Given the description of an element on the screen output the (x, y) to click on. 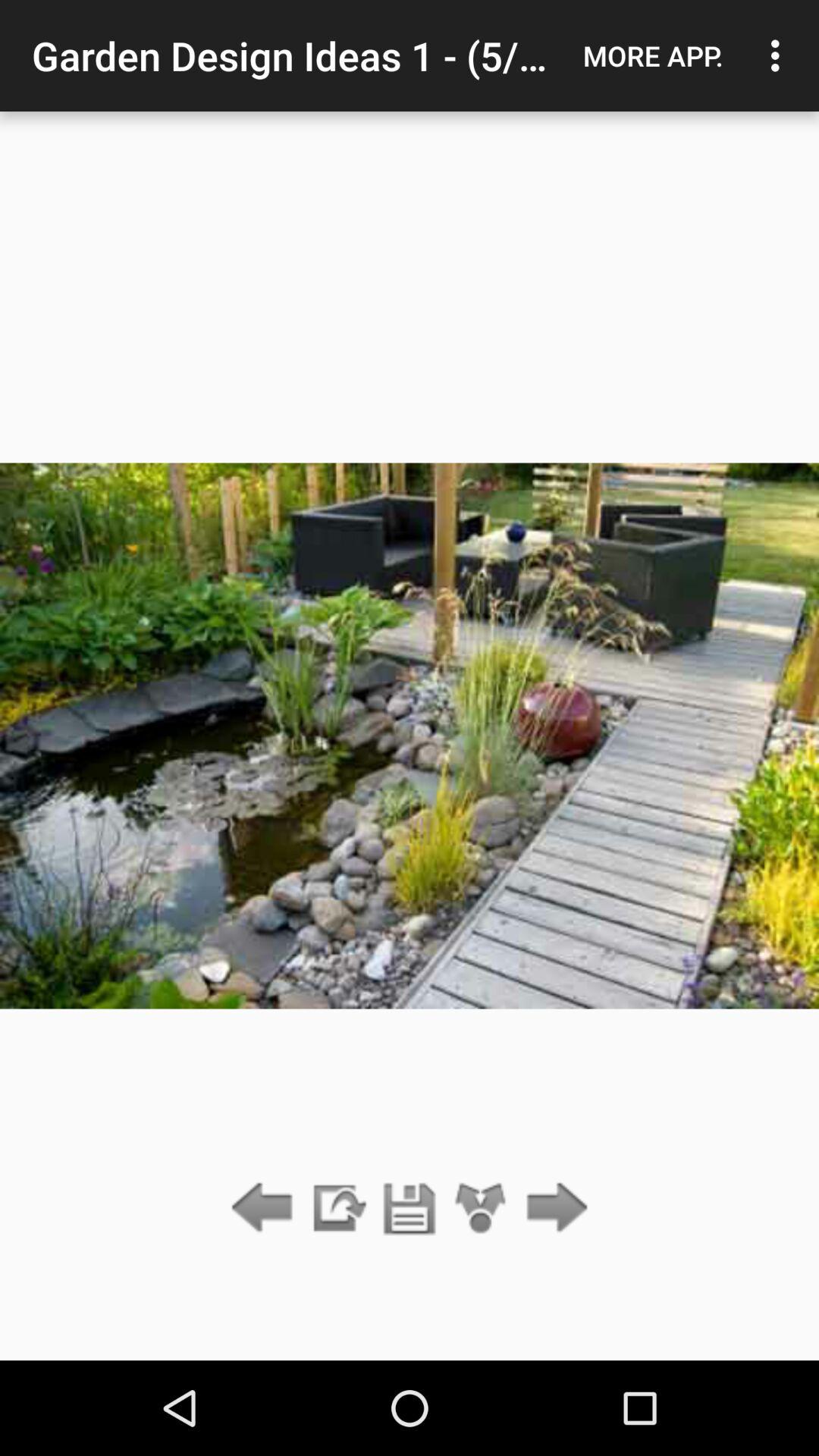
click to next button (552, 1209)
